Given the description of an element on the screen output the (x, y) to click on. 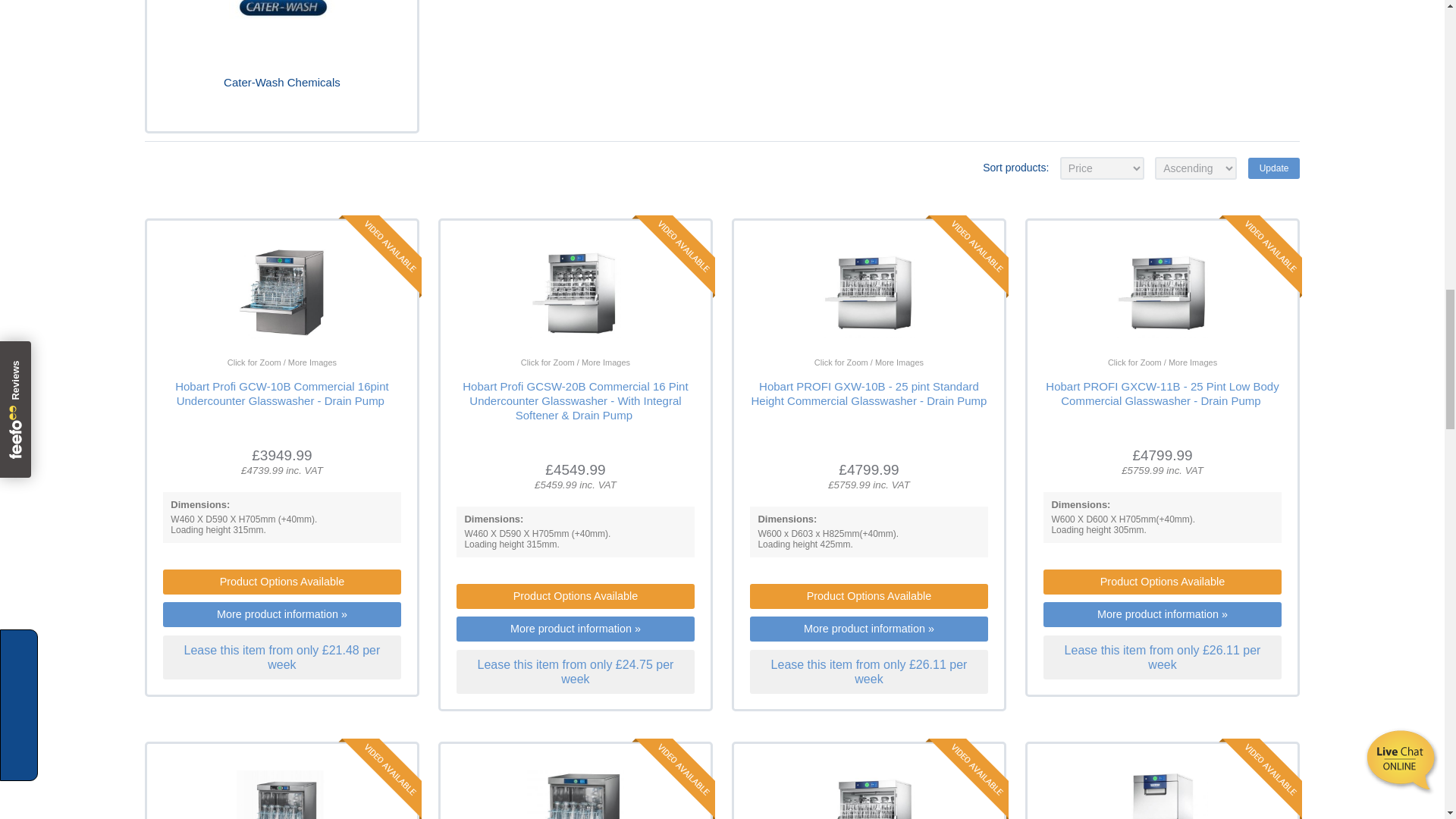
Click for more information (575, 400)
Click for more information (1161, 393)
Click for more information (869, 393)
Click for more product information (543, 322)
Click for more product information (250, 789)
Click for more product information (1130, 789)
Click for more product information (1130, 322)
Click for more product information (836, 789)
Click for more product information (836, 322)
Click for more product information (543, 789)
Click for more information (281, 393)
Click for more product information (250, 322)
